Given the description of an element on the screen output the (x, y) to click on. 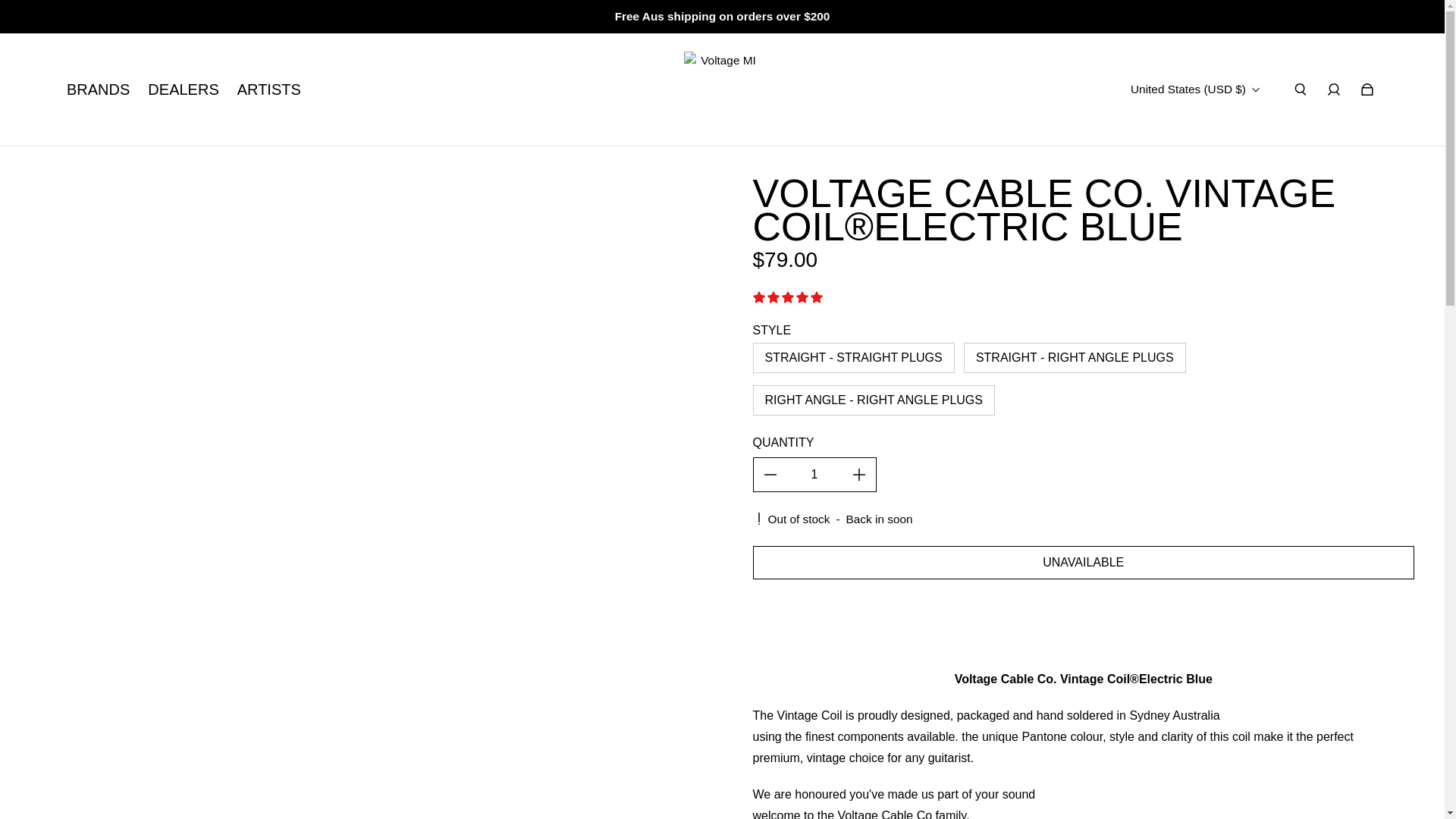
ARTISTS (269, 89)
BRANDS (97, 89)
DEALERS (183, 89)
1 (815, 474)
